Given the description of an element on the screen output the (x, y) to click on. 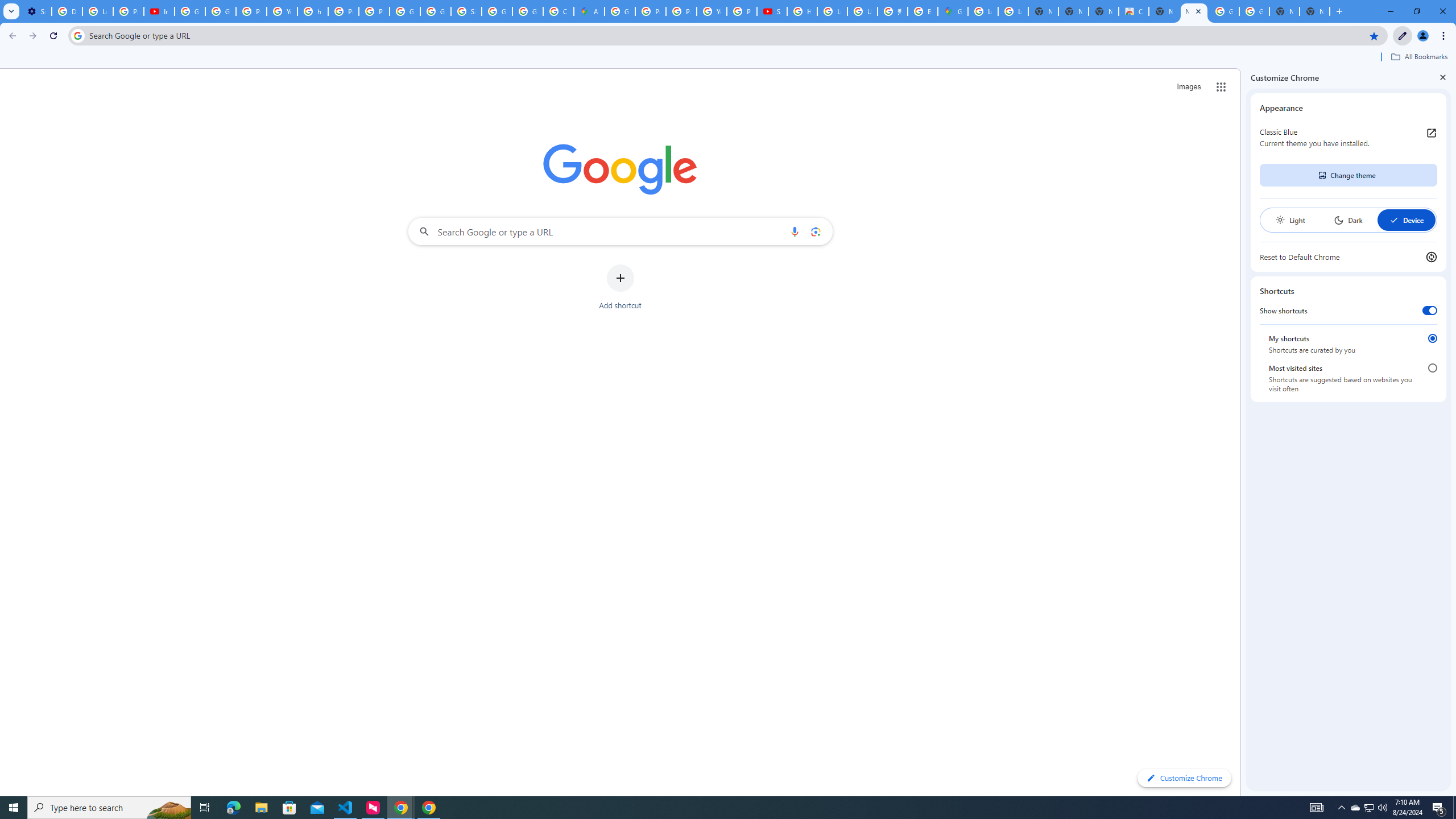
Google Maps (952, 11)
Google Account Help (220, 11)
Delete photos & videos - Computer - Google Photos Help (66, 11)
YouTube (711, 11)
Customize Chrome (1402, 35)
Learn how to find your photos - Google Photos Help (97, 11)
Search icon (77, 35)
